Given the description of an element on the screen output the (x, y) to click on. 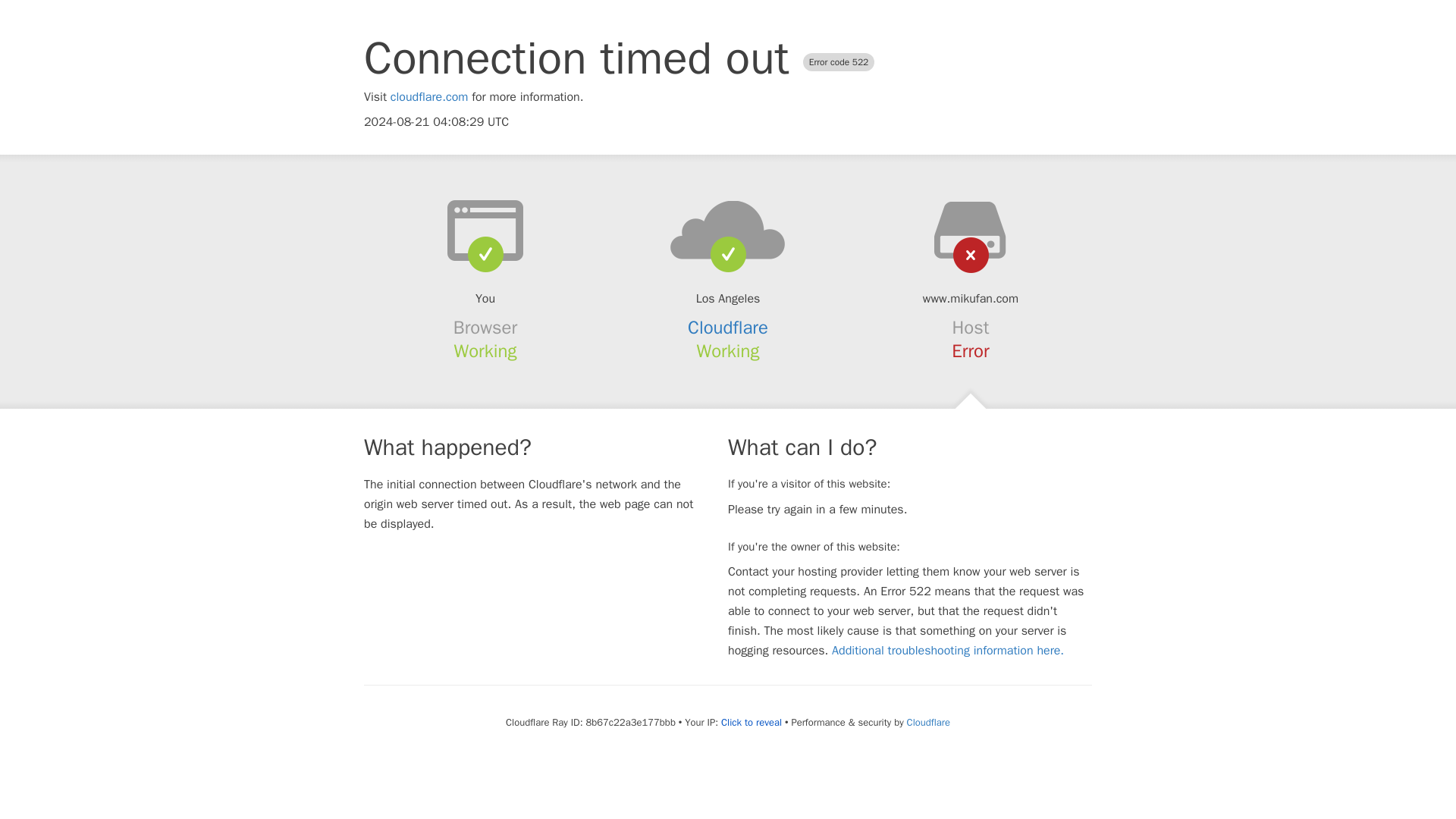
Cloudflare (727, 327)
cloudflare.com (429, 96)
Additional troubleshooting information here. (947, 650)
Cloudflare (928, 721)
Click to reveal (750, 722)
